Given the description of an element on the screen output the (x, y) to click on. 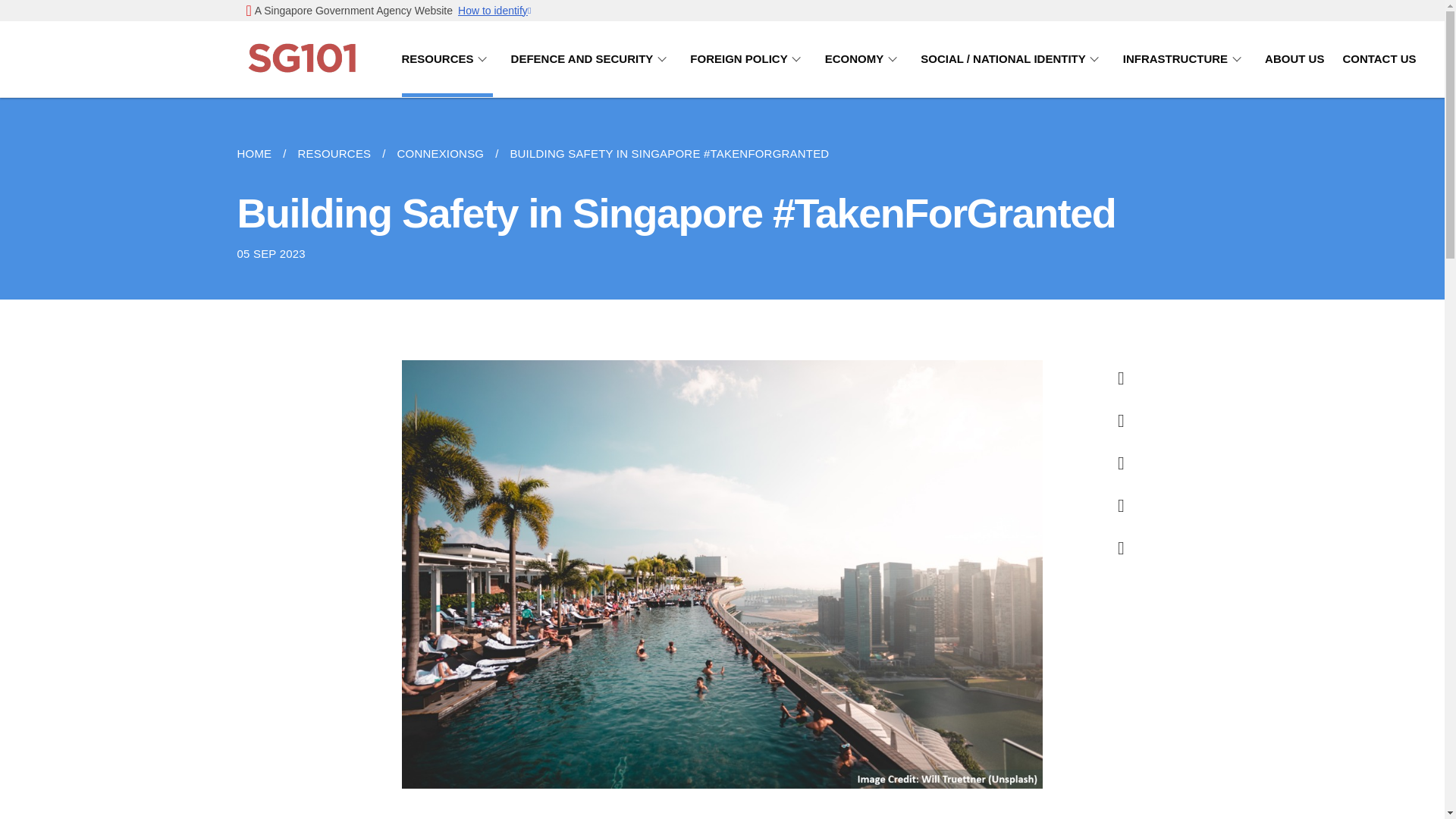
INFRASTRUCTURE (1184, 59)
DEFENCE AND SECURITY (591, 59)
RESOURCES (447, 59)
ECONOMY (863, 59)
FOREIGN POLICY (748, 59)
